Given the description of an element on the screen output the (x, y) to click on. 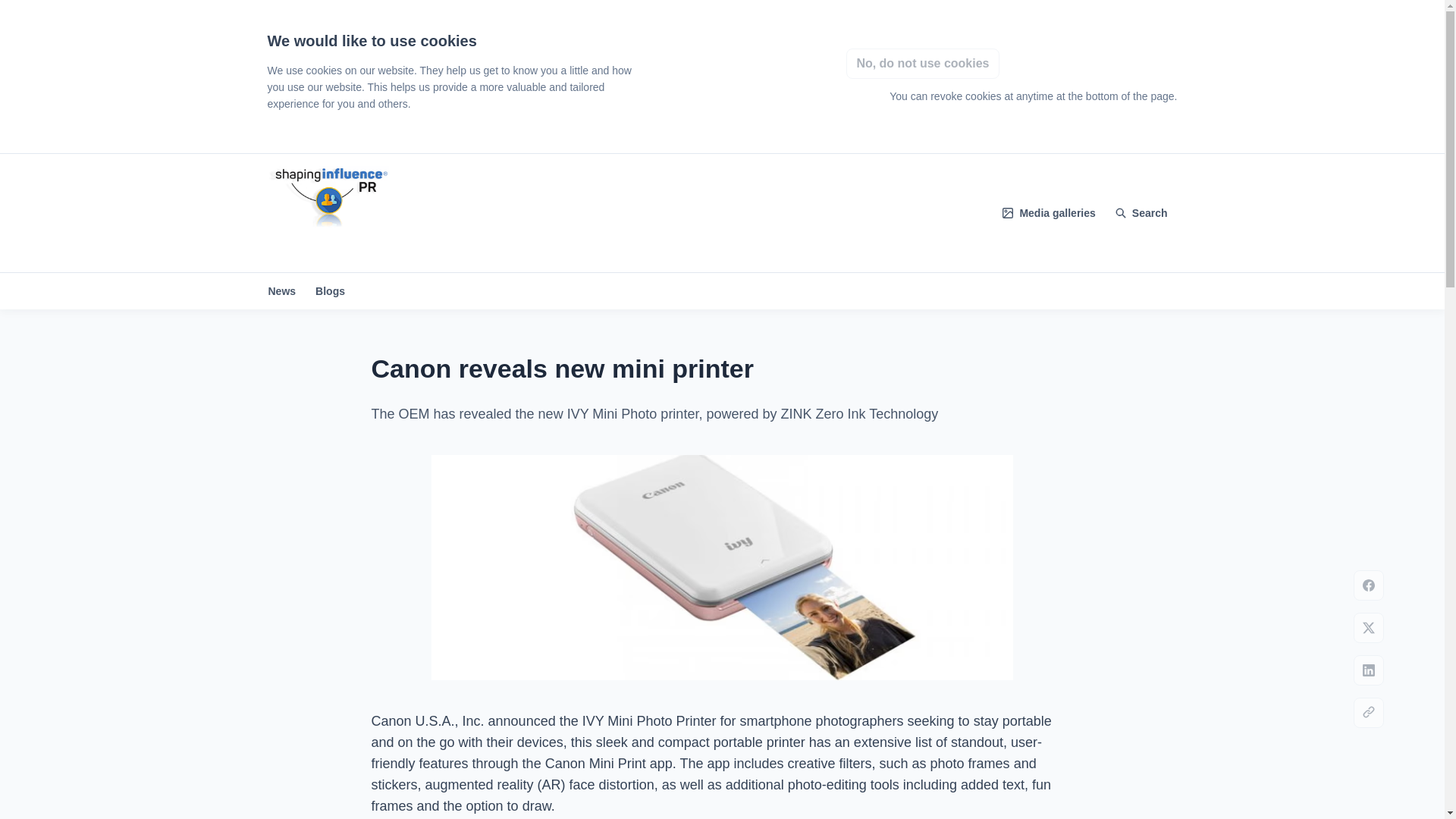
JMRCONNECT (327, 213)
Yes, you can use cookies (1094, 63)
Copy URL (1369, 712)
Search (1141, 213)
News (281, 291)
Media galleries (1048, 212)
Search (1141, 213)
No, do not use cookies (921, 63)
Blogs (330, 291)
